Given the description of an element on the screen output the (x, y) to click on. 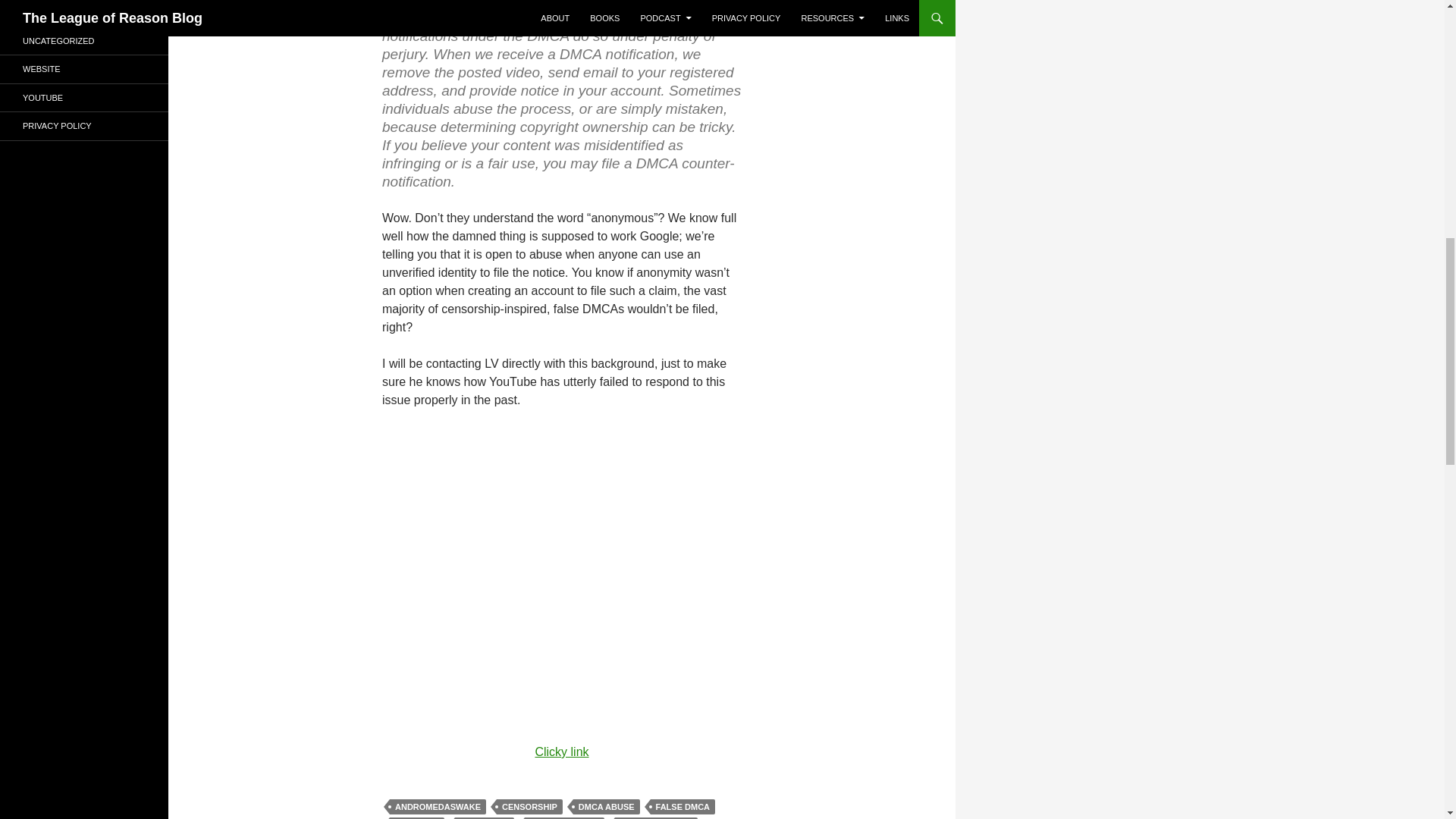
LIBERALVIEWER (564, 818)
FLAGGING (417, 818)
ANDROMEDASWAKE (438, 806)
VICTORIA GRAND (655, 818)
Clicky link (561, 751)
FALSE DMCA (683, 806)
JOE FELICE (483, 818)
DMCA ABUSE (606, 806)
CENSORSHIP (529, 806)
